Given the description of an element on the screen output the (x, y) to click on. 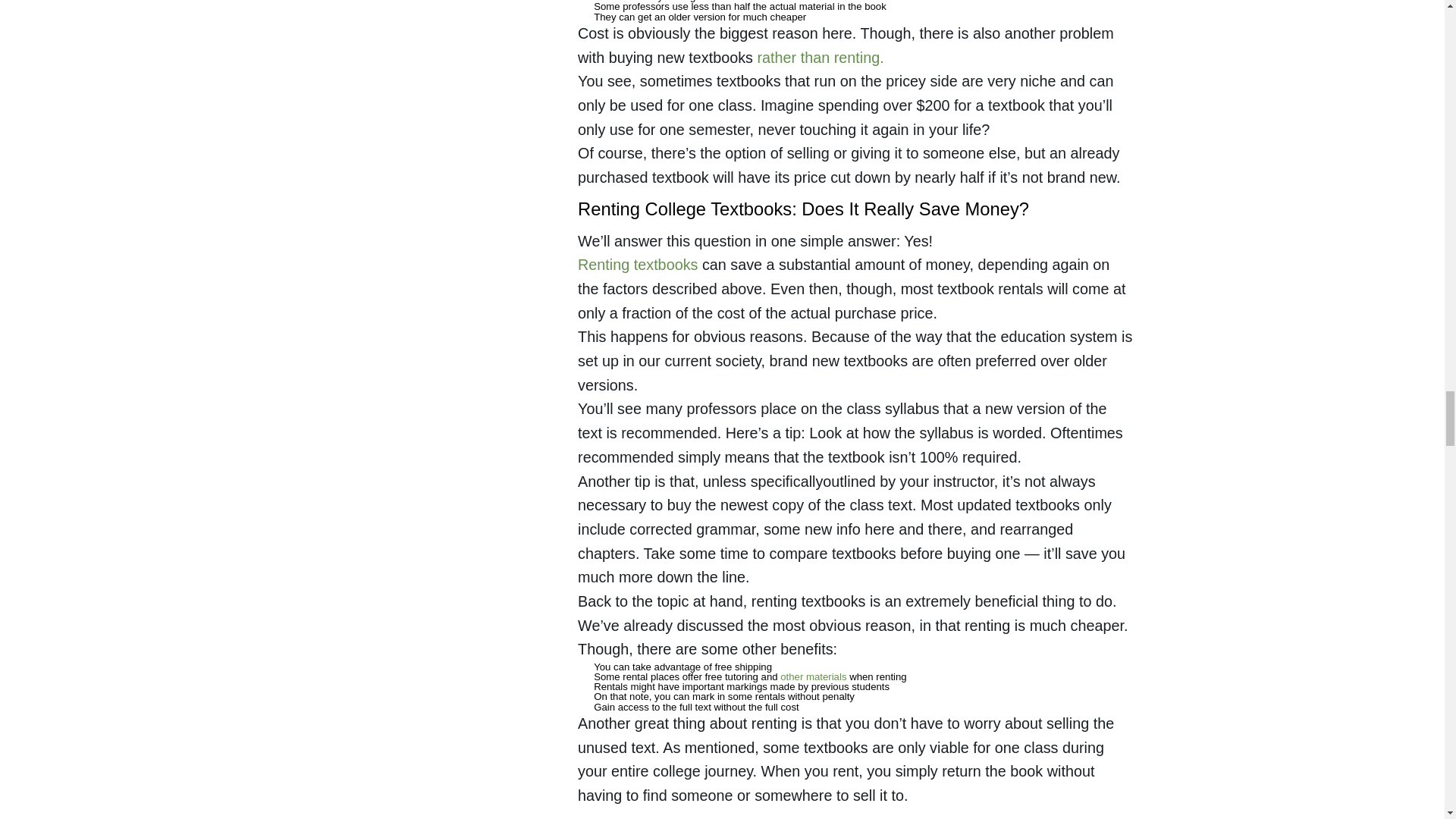
Renting textbooks (637, 264)
other materials (812, 676)
rather than renting. (820, 56)
